Given the description of an element on the screen output the (x, y) to click on. 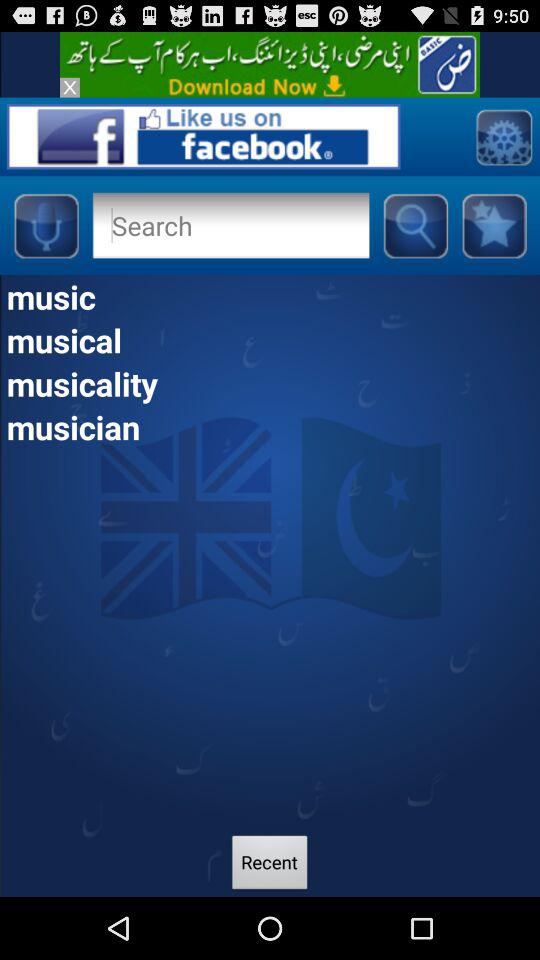
open settings (503, 136)
